Given the description of an element on the screen output the (x, y) to click on. 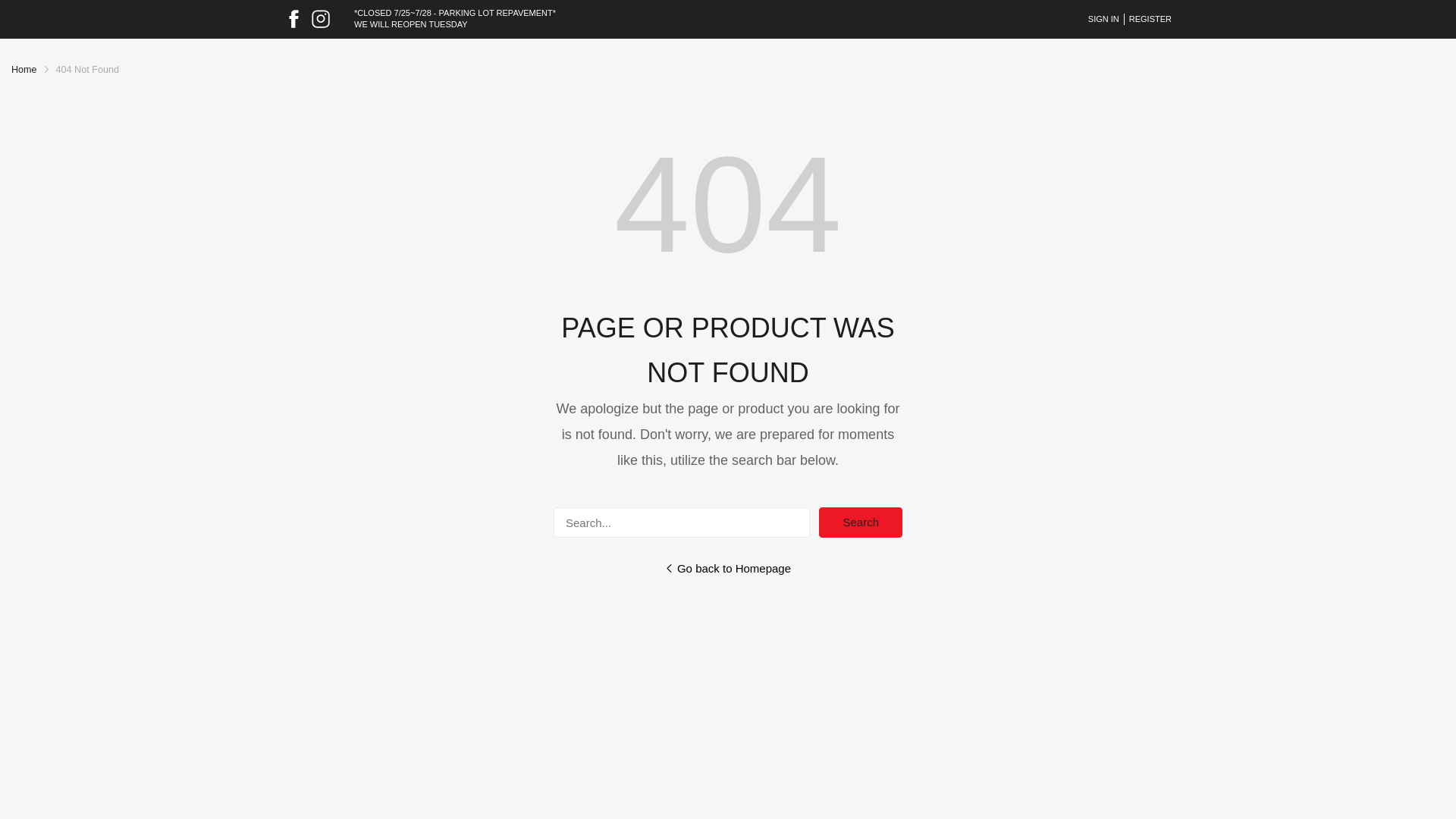
SIGN IN (1103, 19)
Facebook (292, 18)
Home (24, 69)
Go back to Homepage (727, 568)
REGISTER (1148, 19)
Search (860, 521)
Instagram (320, 18)
404 Not Found (87, 69)
